Given the description of an element on the screen output the (x, y) to click on. 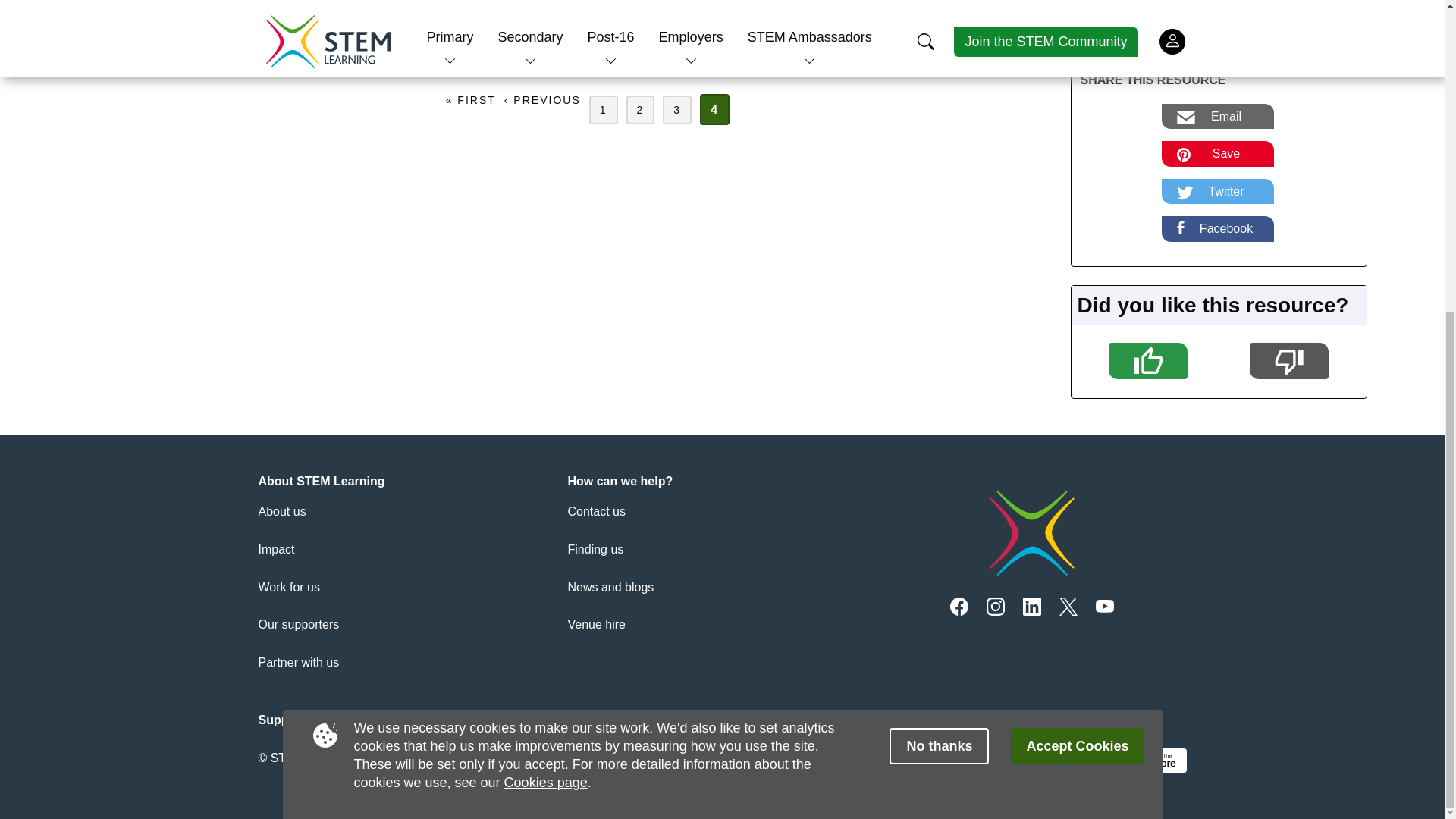
Go to previous page (541, 99)
Go to page 3 (676, 109)
Go to page 1 (603, 109)
Go to first page (470, 99)
Go to page 2 (640, 109)
